Given the description of an element on the screen output the (x, y) to click on. 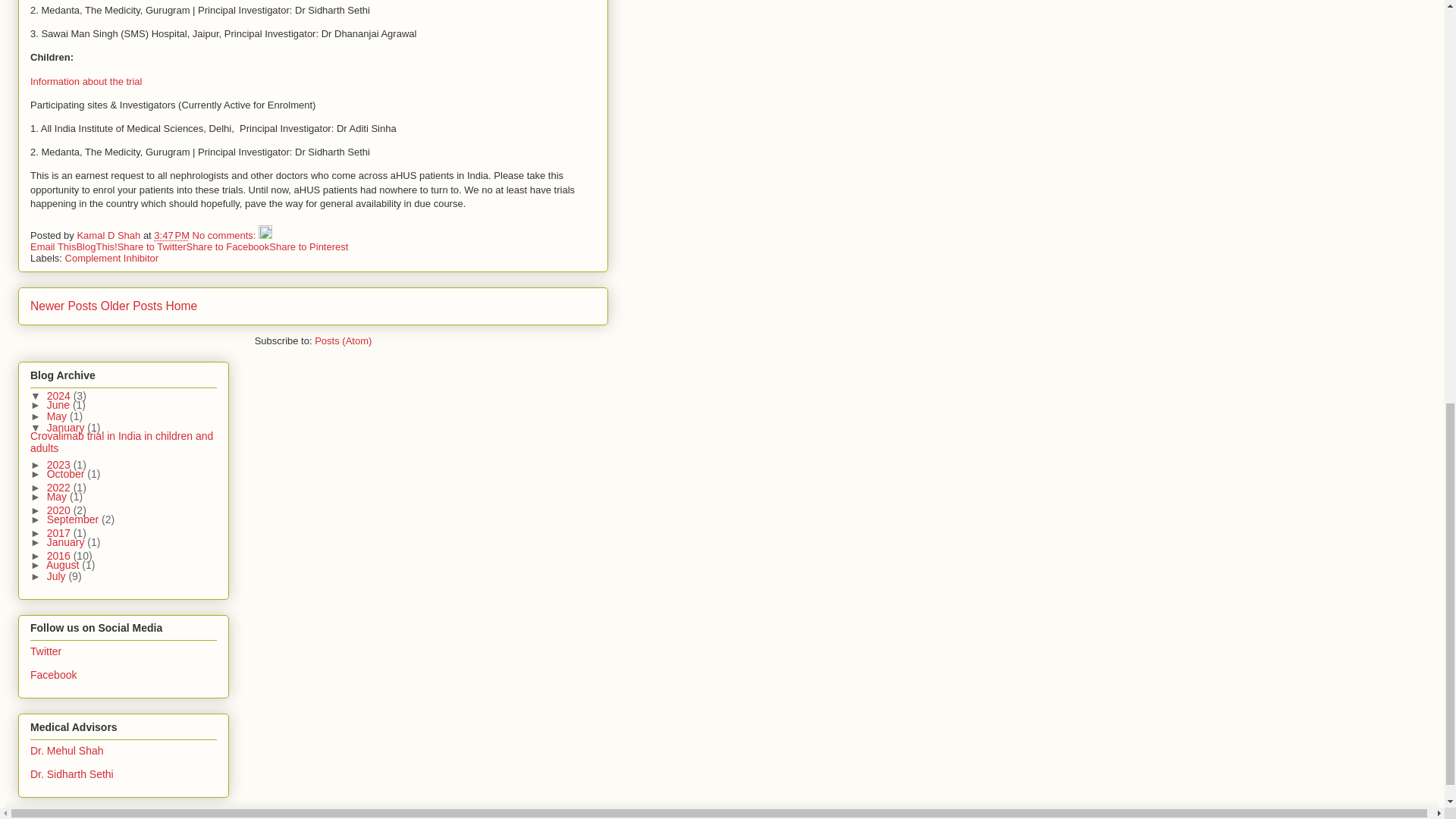
permanent link (171, 235)
Share to Pinterest (308, 246)
Older Posts (130, 305)
Kamal D Shah (109, 235)
2024 (60, 395)
June (59, 404)
Older Posts (130, 305)
May (57, 416)
Home (181, 305)
No comments: (225, 235)
Share to Twitter (151, 246)
BlogThis! (95, 246)
Information about the trial (85, 81)
Share to Pinterest (308, 246)
Newer Posts (63, 305)
